Given the description of an element on the screen output the (x, y) to click on. 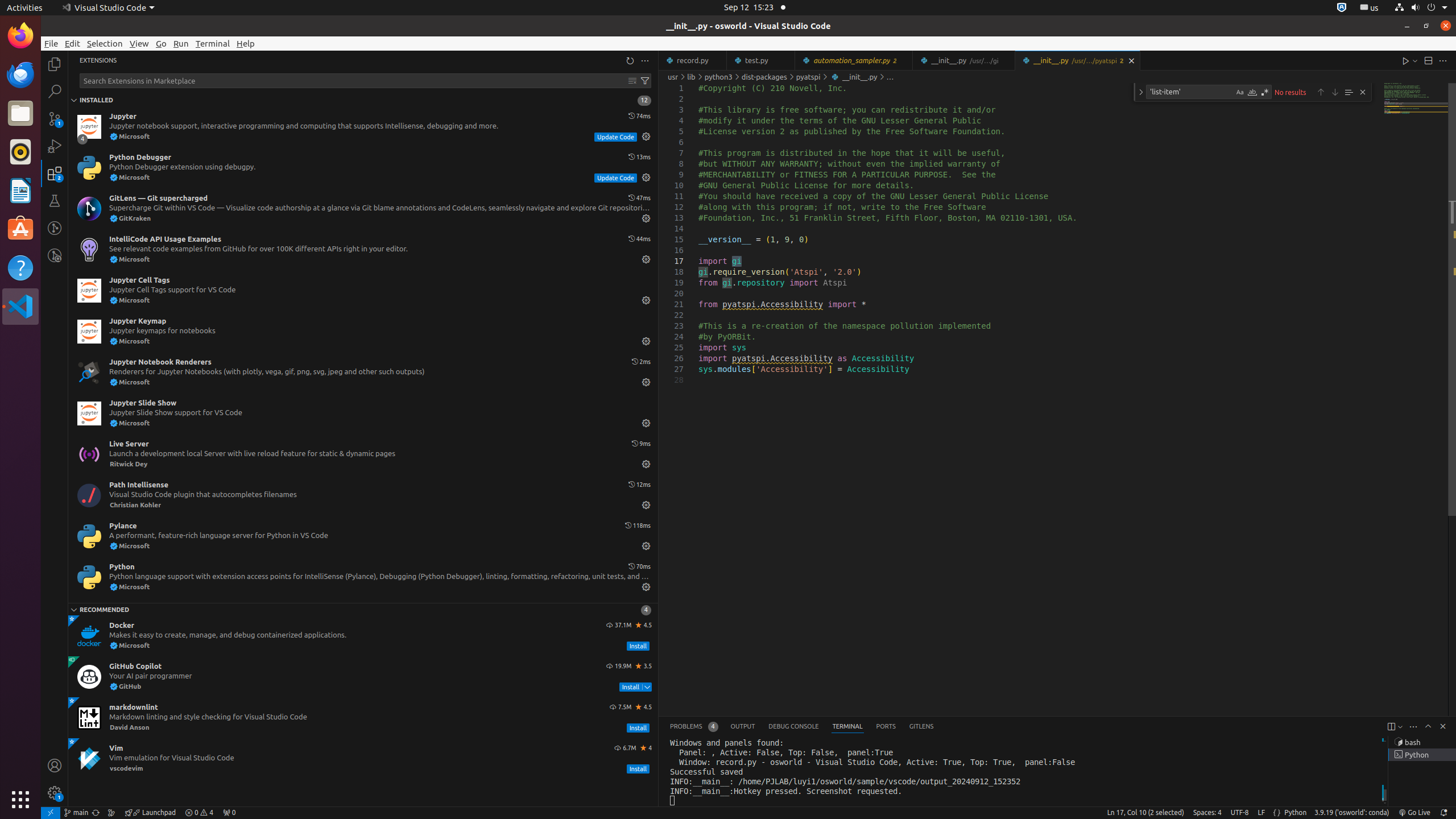
GitLens — Git supercharged, 15.4.0, Verified Publisher GitKraken, Supercharge Git within VS Code — Visualize code authorship at a glance via Git blame annotations and CodeLens, seamlessly navigate and explore Git repositories, gain valuable insights via rich visualizations and powerful comparison commands, and so much more , Rated 3.68 out of 5 stars by 823 users Element type: list-item (363, 208)
Output (Ctrl+K Ctrl+H) Element type: page-tab (742, 726)
Use Regular Expression (Alt+R) Element type: check-box (1264, 91)
test.py Element type: page-tab (760, 60)
Next Match (Enter) Element type: push-button (1334, 91)
